Given the description of an element on the screen output the (x, y) to click on. 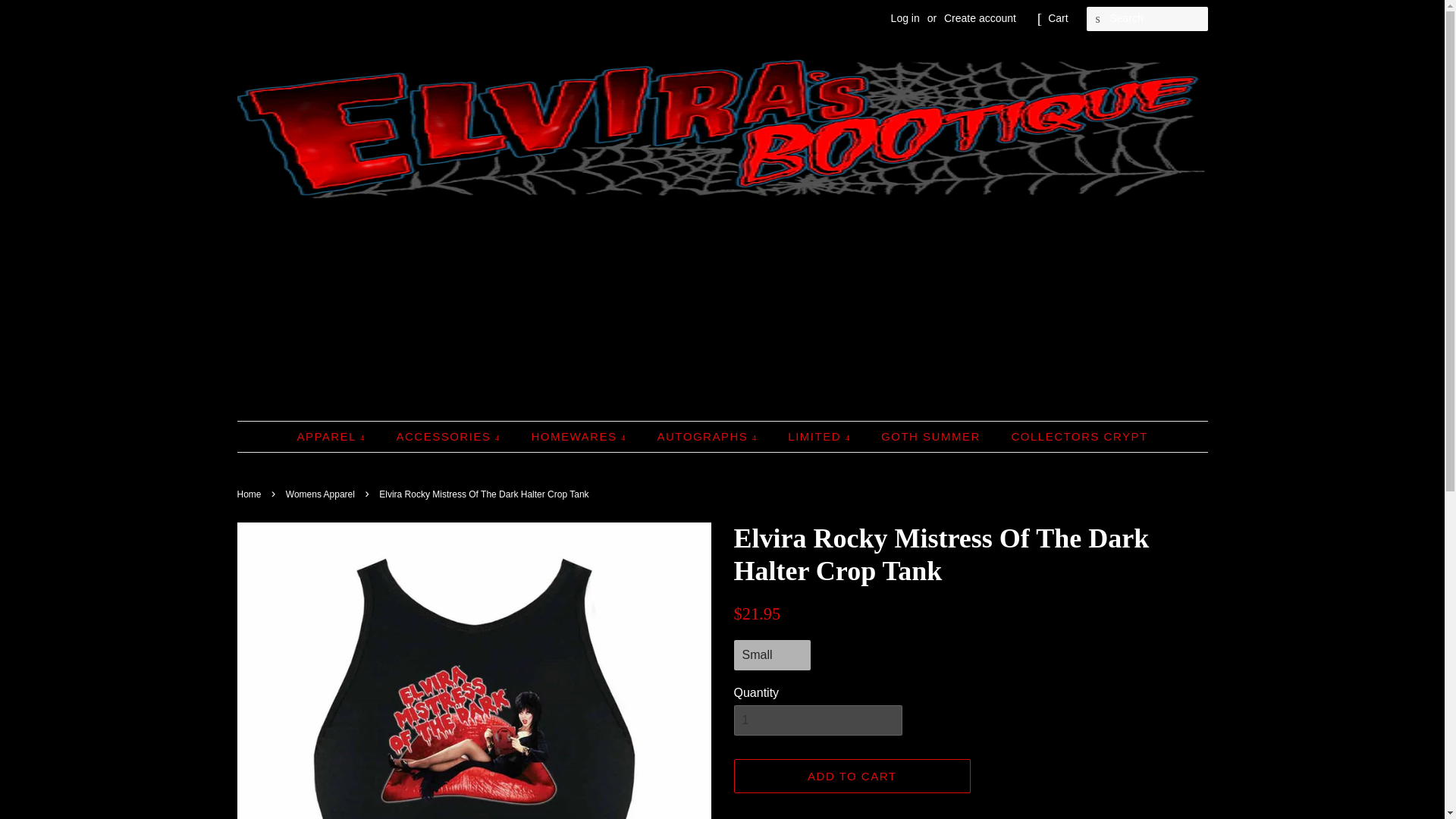
Create account (979, 18)
Back to the frontpage (249, 493)
1 (817, 720)
SEARCH (1097, 18)
Cart (1057, 18)
Log in (905, 18)
